Given the description of an element on the screen output the (x, y) to click on. 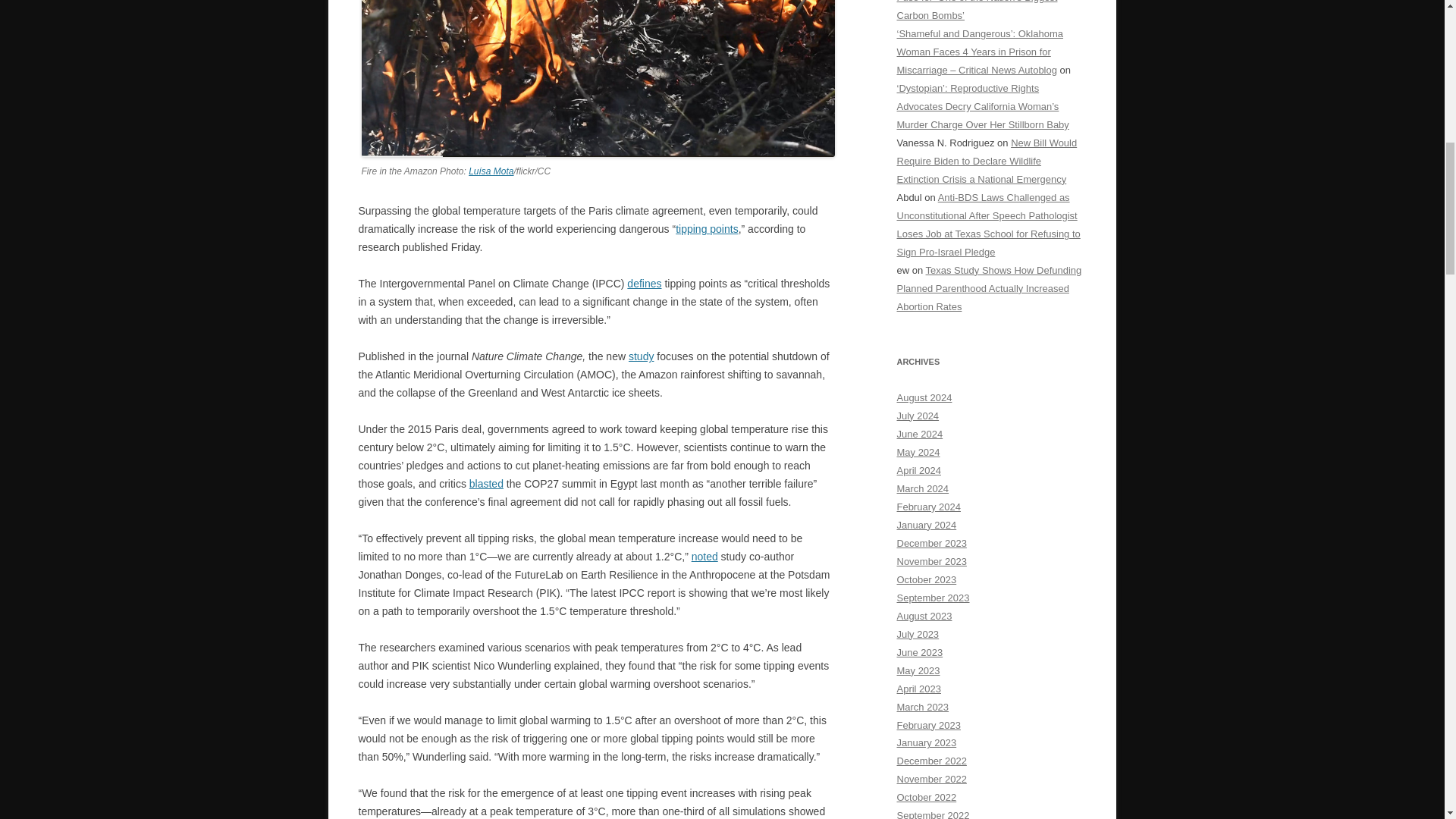
defines (644, 283)
tipping points (706, 228)
noted (704, 556)
study (640, 356)
blasted (485, 483)
